Given the description of an element on the screen output the (x, y) to click on. 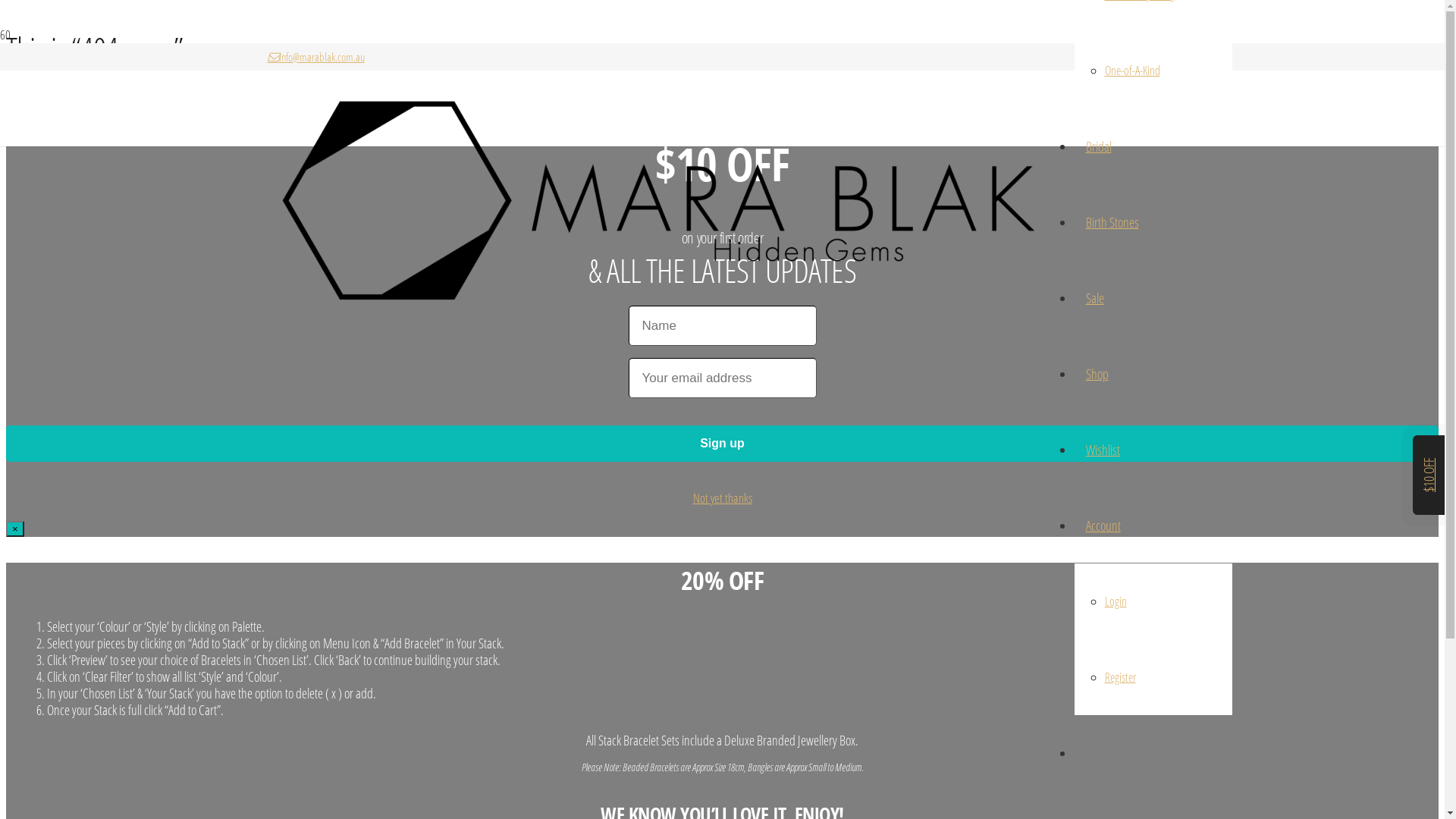
Not yet thanks Element type: text (722, 497)
Sale Element type: text (1093, 297)
One-of-A-Kind Element type: text (1131, 70)
Sign up Element type: text (722, 443)
Wishlist Element type: text (1101, 449)
Register Element type: text (1119, 676)
Birth Stones Element type: text (1111, 222)
Login Element type: text (1115, 601)
Shop Element type: text (1096, 373)
Account Element type: text (1102, 525)
info@marablak.com.au Element type: text (315, 56)
Bridal Element type: text (1097, 146)
$10 OFF Element type: text (1436, 467)
